Given the description of an element on the screen output the (x, y) to click on. 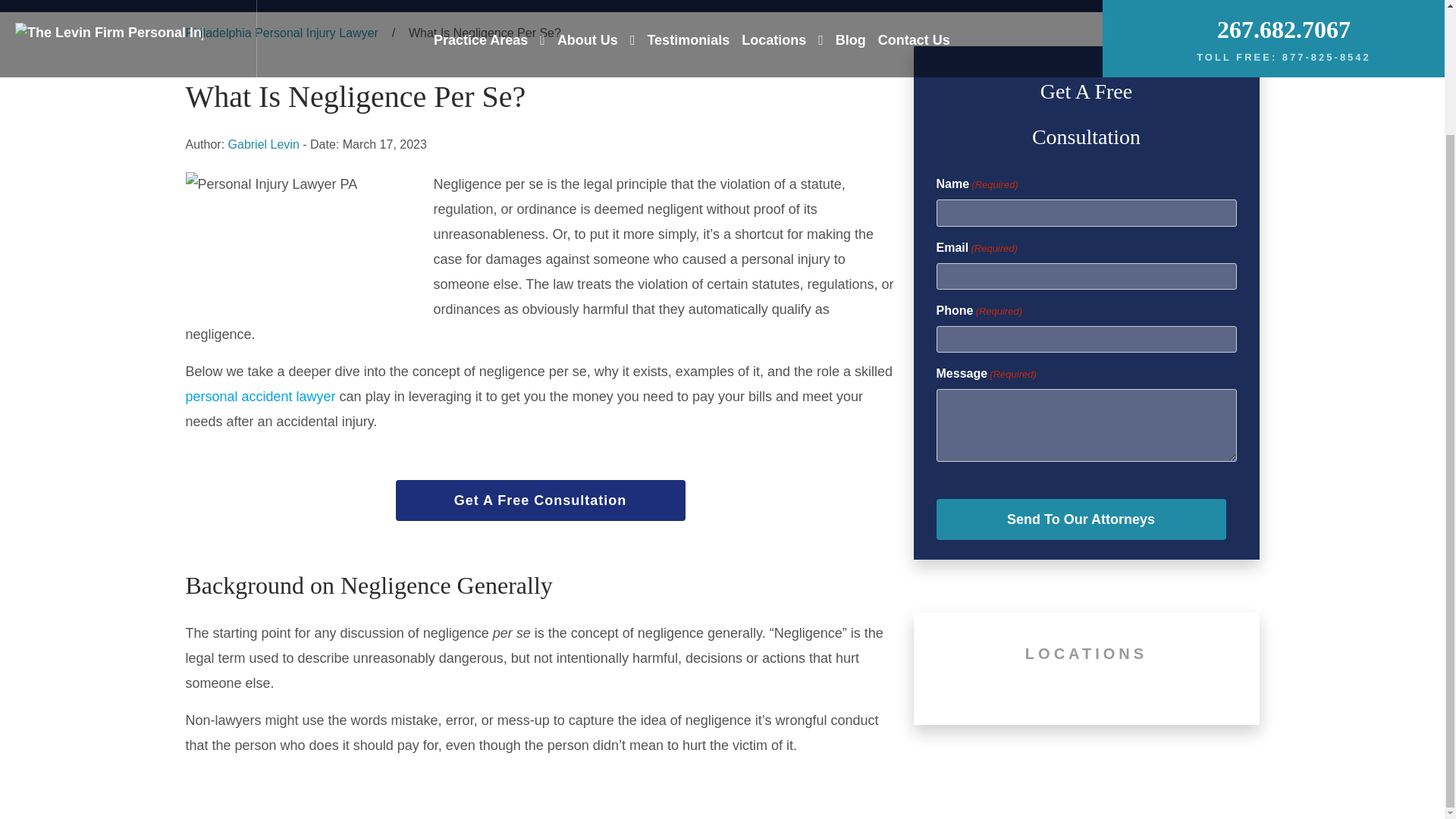
Get A Free Consultation (540, 499)
Philadelphia Personal Injury Lawyer (280, 33)
Gabriel Levin (263, 144)
personal accident lawyer (259, 396)
